Given the description of an element on the screen output the (x, y) to click on. 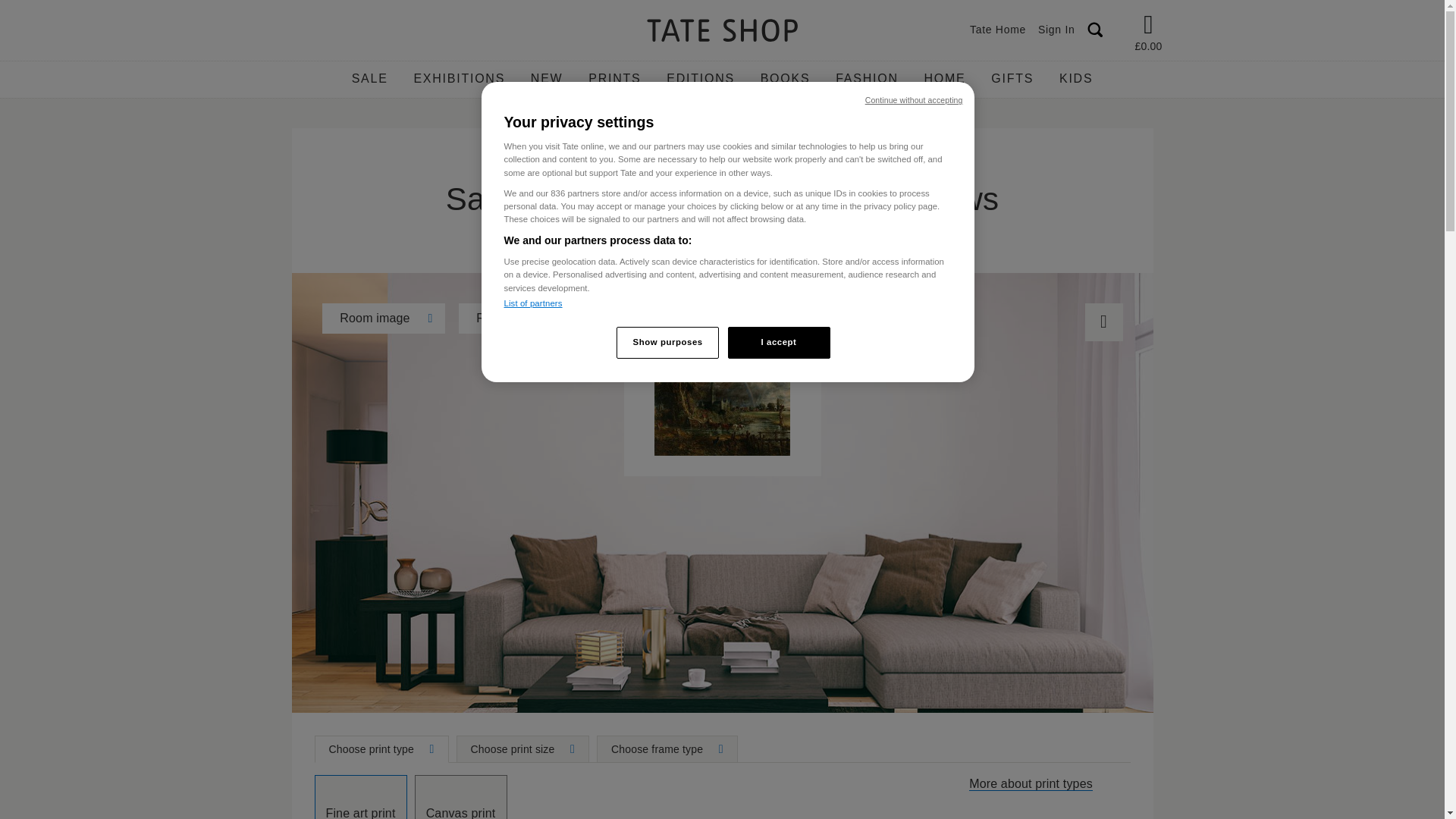
NEW (546, 78)
Tate Home (997, 29)
Sign In (1056, 29)
Return to the Tate home page Home (721, 32)
PRINTS (614, 78)
EXHIBITIONS (458, 78)
User: Sign In (1056, 29)
SALE (369, 78)
View basket (1148, 26)
